Given the description of an element on the screen output the (x, y) to click on. 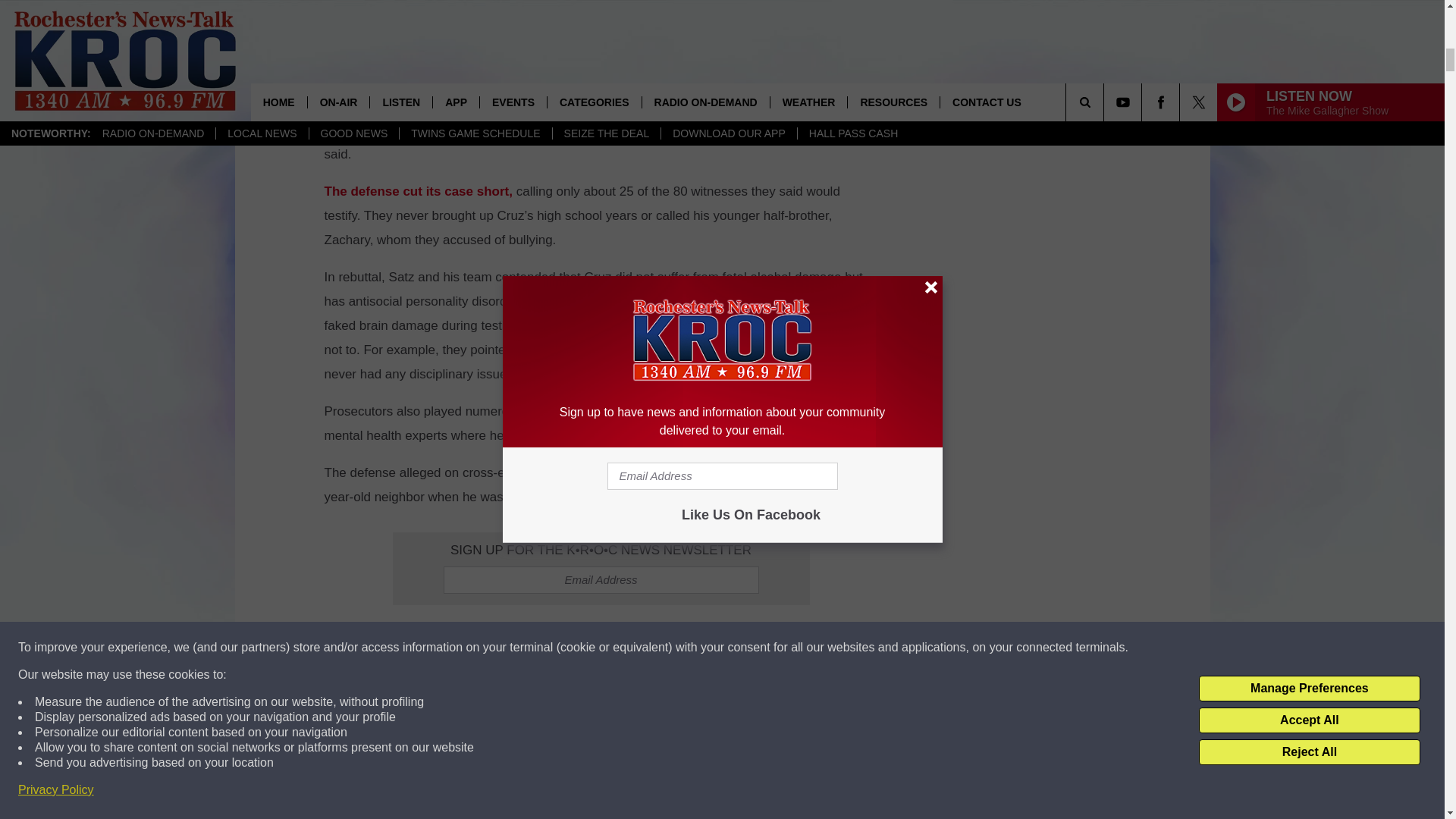
Email Address (600, 579)
